Given the description of an element on the screen output the (x, y) to click on. 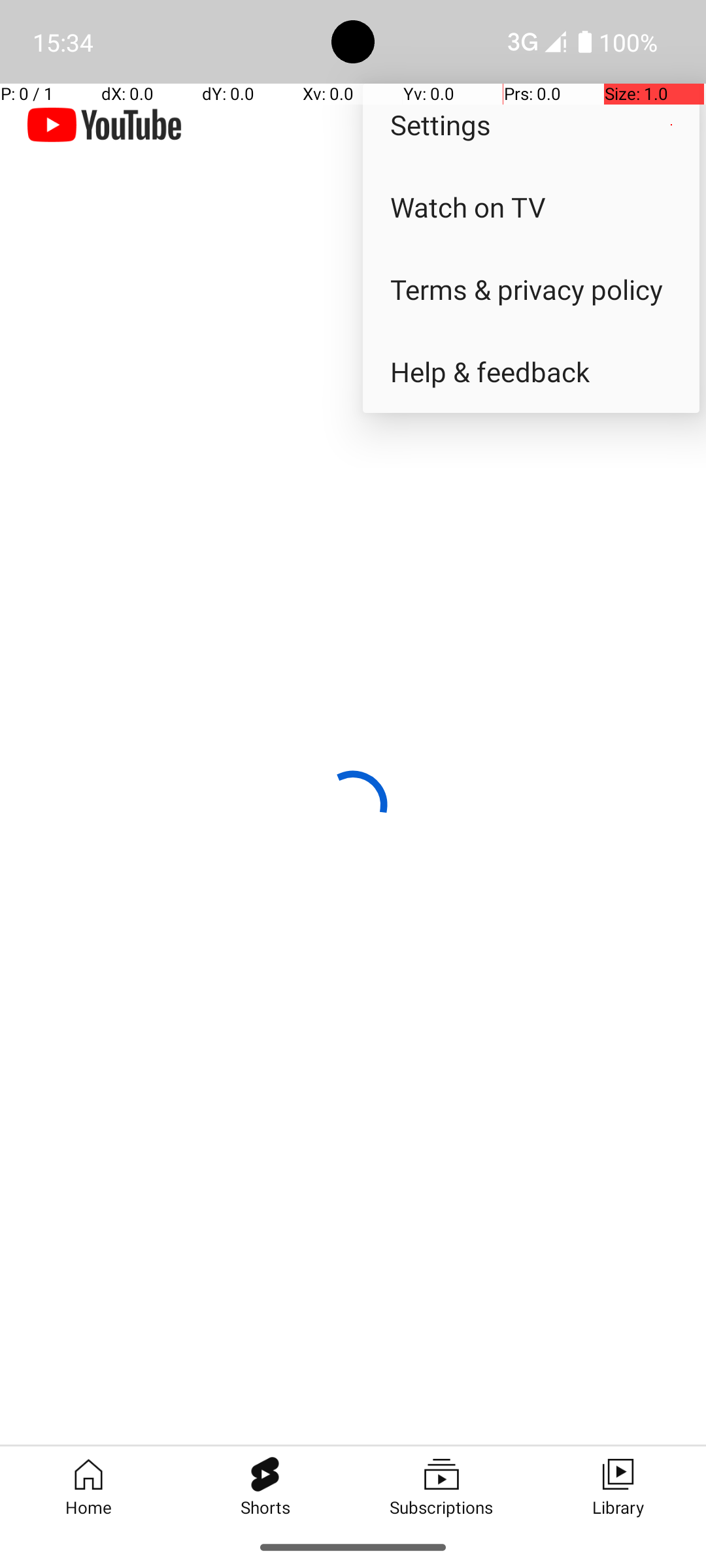
Watch on TV Element type: android.widget.TextView (531, 206)
Terms & privacy policy Element type: android.widget.TextView (531, 288)
Help & feedback Element type: android.widget.TextView (531, 371)
